Given the description of an element on the screen output the (x, y) to click on. 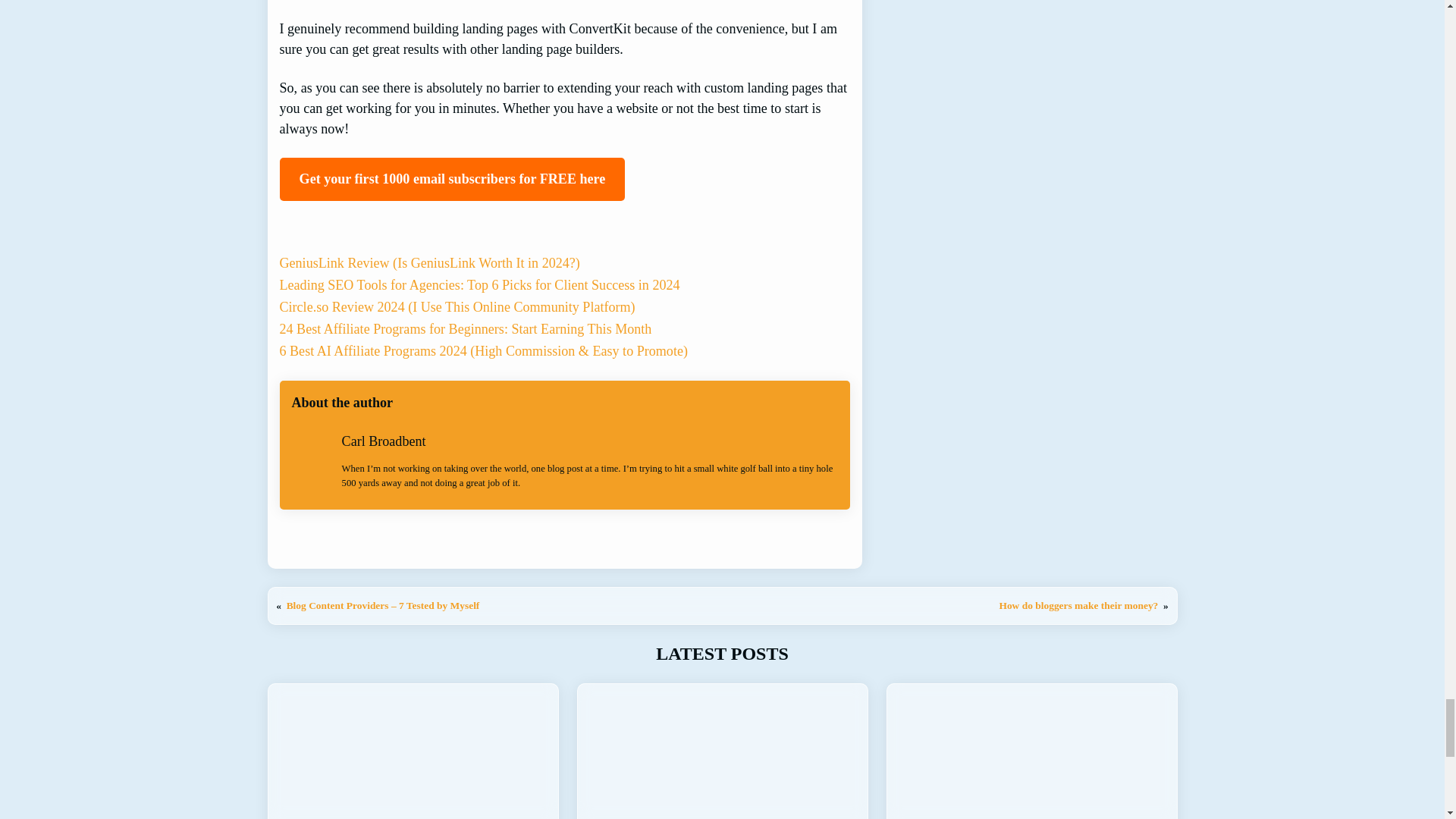
Get your first 1000 email subscribers for FREE here (451, 179)
